Given the description of an element on the screen output the (x, y) to click on. 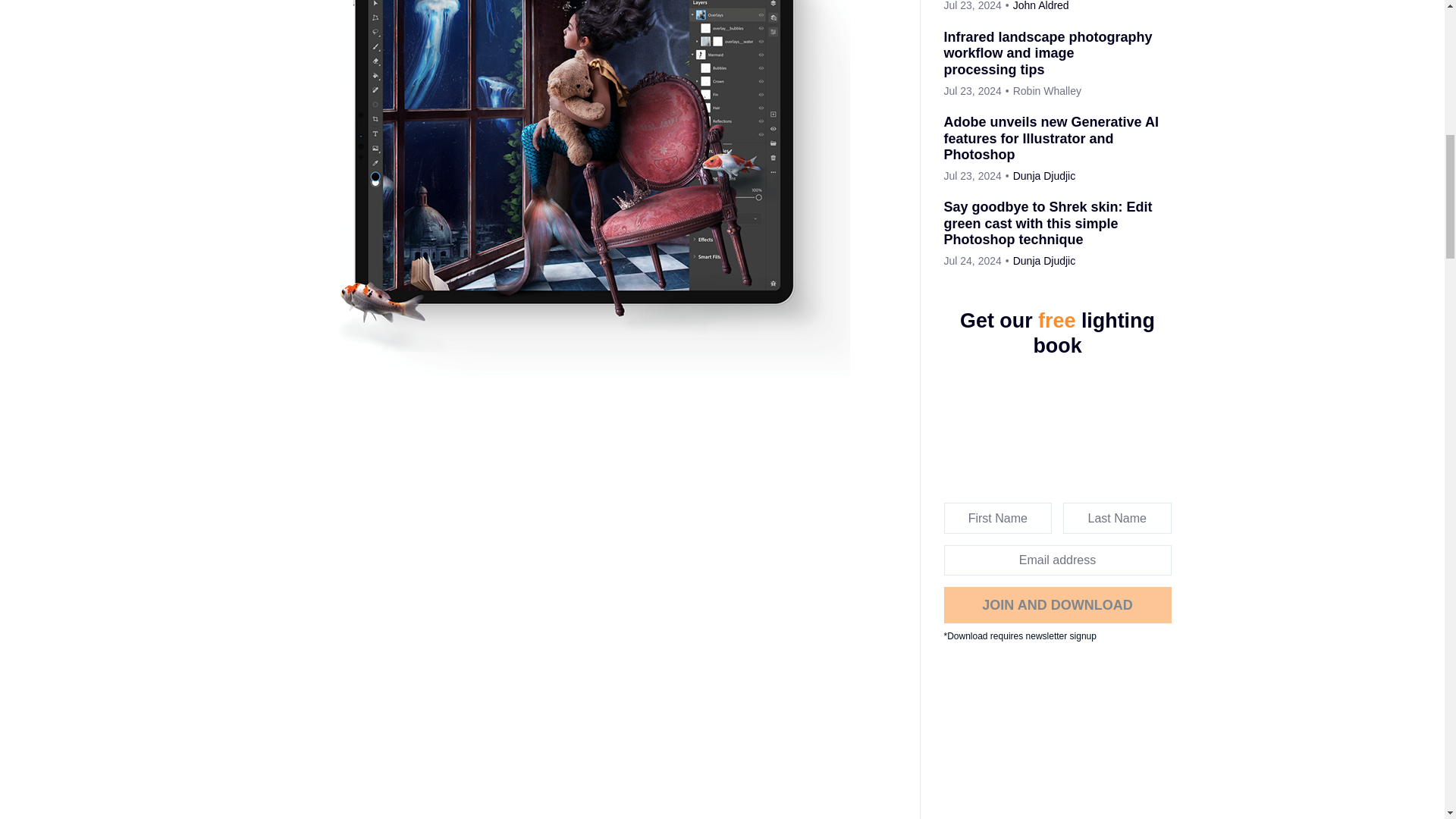
Join and Download (1056, 605)
